Given the description of an element on the screen output the (x, y) to click on. 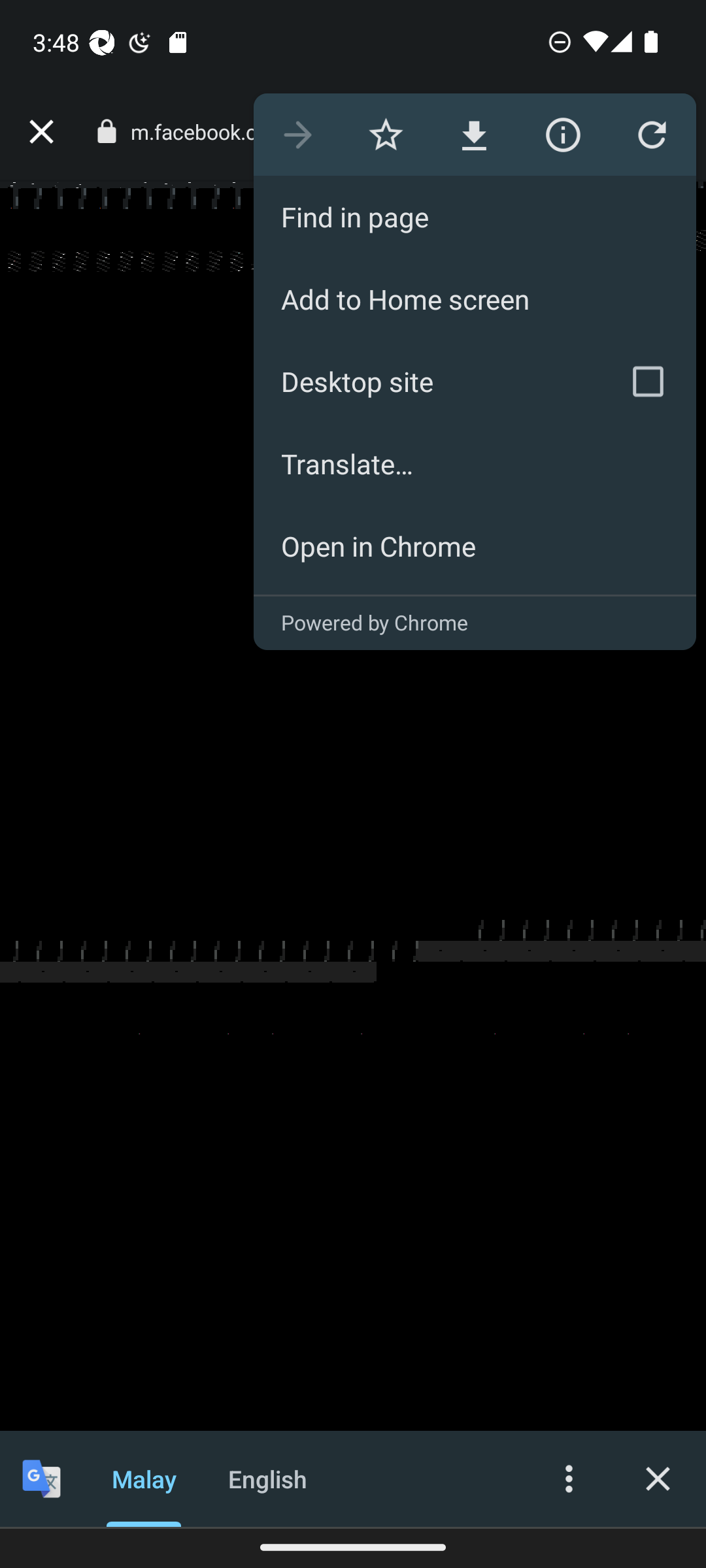
Go forward (297, 134)
Bookmark (385, 134)
Download page (473, 134)
View site information (562, 134)
Refresh (651, 134)
Find in page (474, 216)
Add to Home screen (474, 299)
Desktop site Turn on Request desktop site (426, 381)
Translate… (474, 463)
Open in Chrome (474, 546)
